Given the description of an element on the screen output the (x, y) to click on. 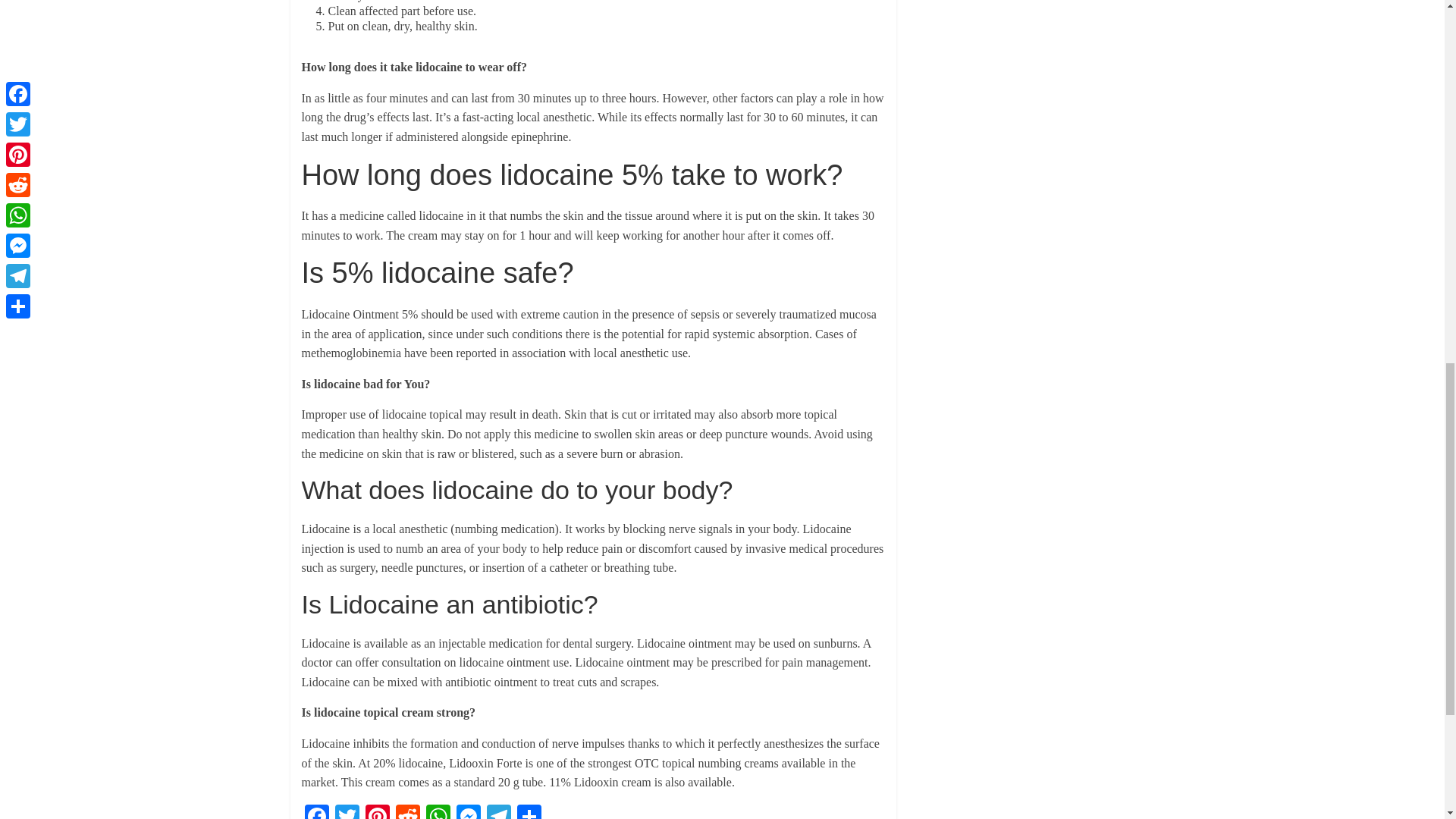
Reddit (408, 811)
Pinterest (377, 811)
Telegram (498, 811)
Pinterest (377, 811)
WhatsApp (437, 811)
Messenger (467, 811)
Telegram (498, 811)
Reddit (408, 811)
Messenger (467, 811)
Twitter (346, 811)
